Given the description of an element on the screen output the (x, y) to click on. 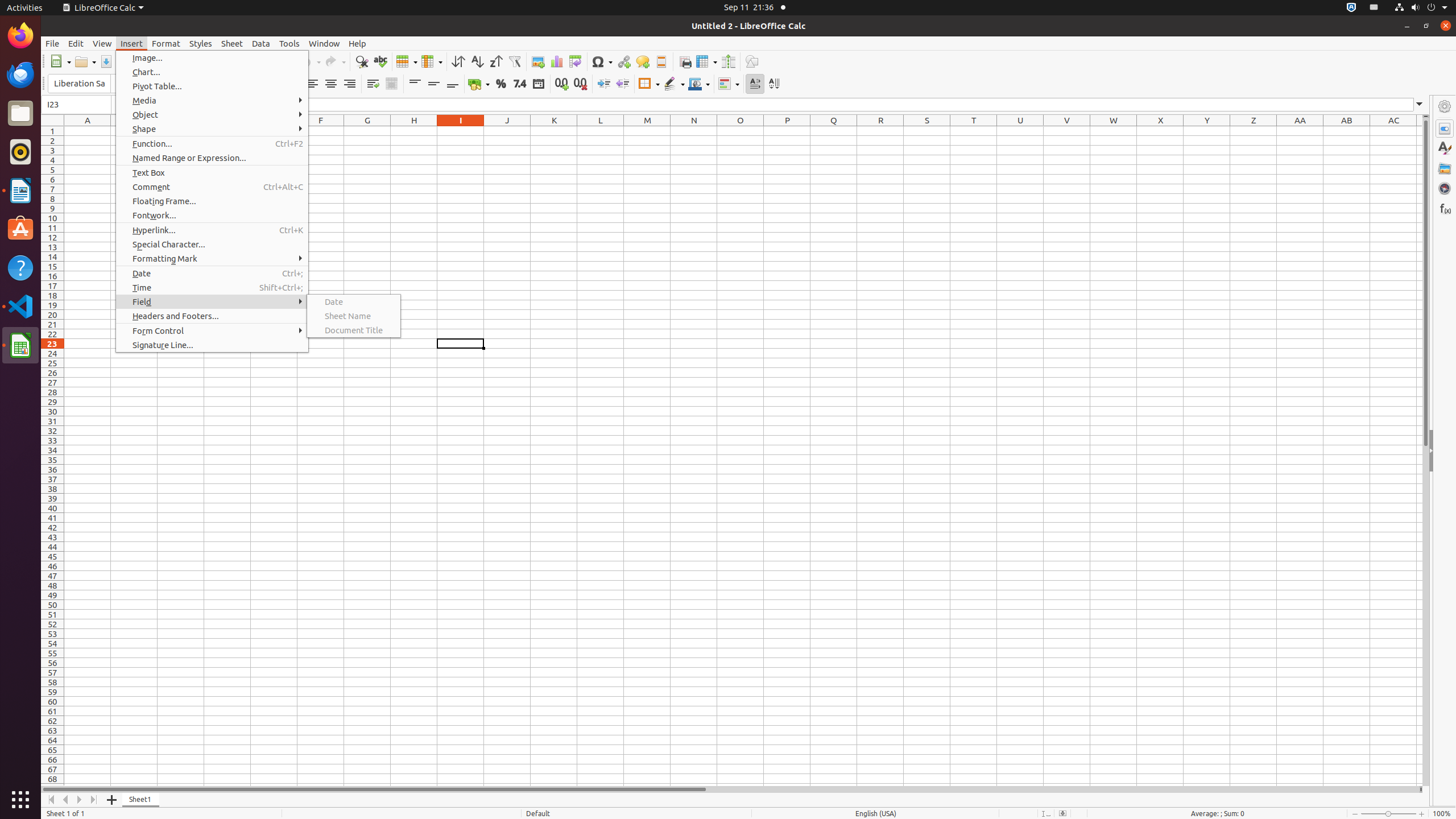
Object Element type: menu (212, 114)
S1 Element type: table-cell (926, 130)
Headers and Footers... Element type: menu-item (212, 315)
Time Element type: menu-item (212, 287)
Column Element type: push-button (431, 61)
